Given the description of an element on the screen output the (x, y) to click on. 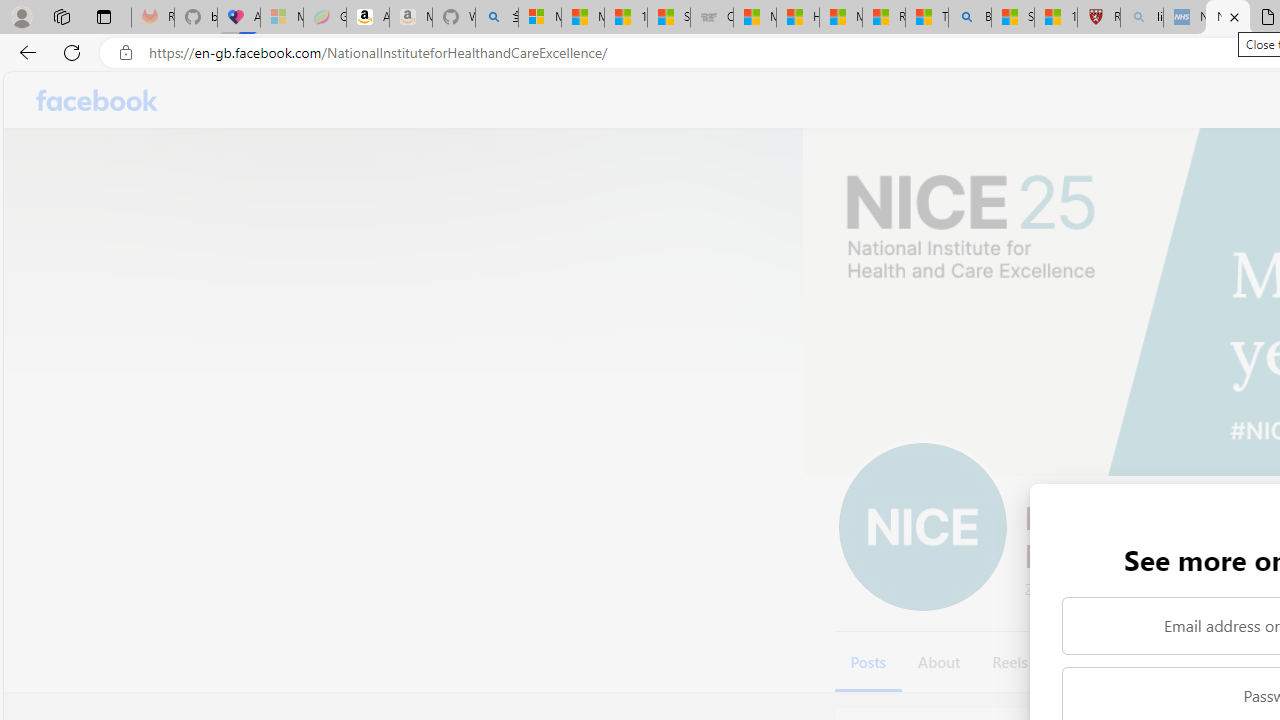
Recipes - MSN (883, 17)
Microsoft-Report a Concern to Bing - Sleeping (282, 17)
Asthma Inhalers: Names and Types (238, 17)
Facebook (97, 99)
